Given the description of an element on the screen output the (x, y) to click on. 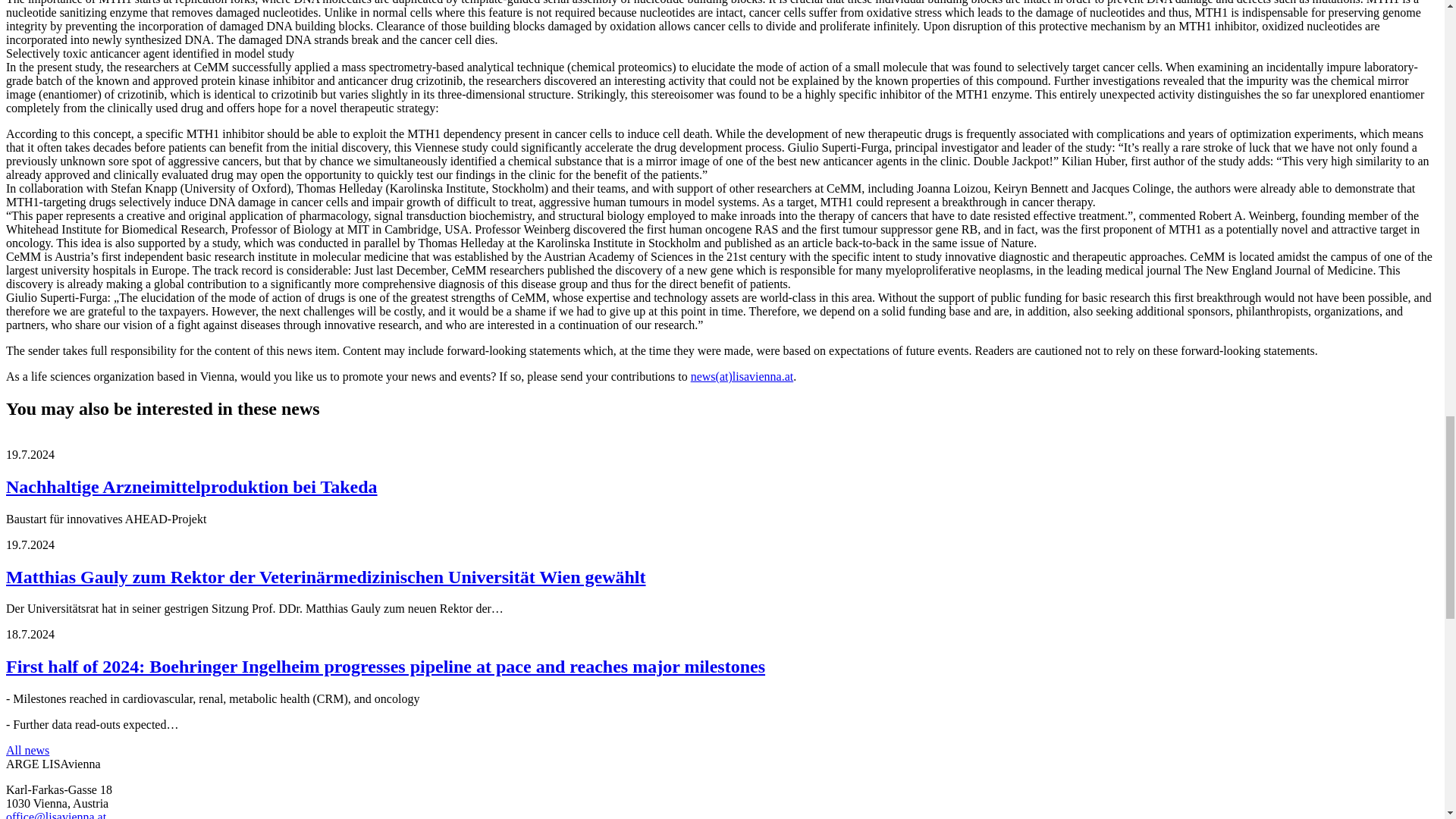
Nachhaltige Arzneimittelproduktion bei Takeda (191, 486)
All news (27, 749)
